Given the description of an element on the screen output the (x, y) to click on. 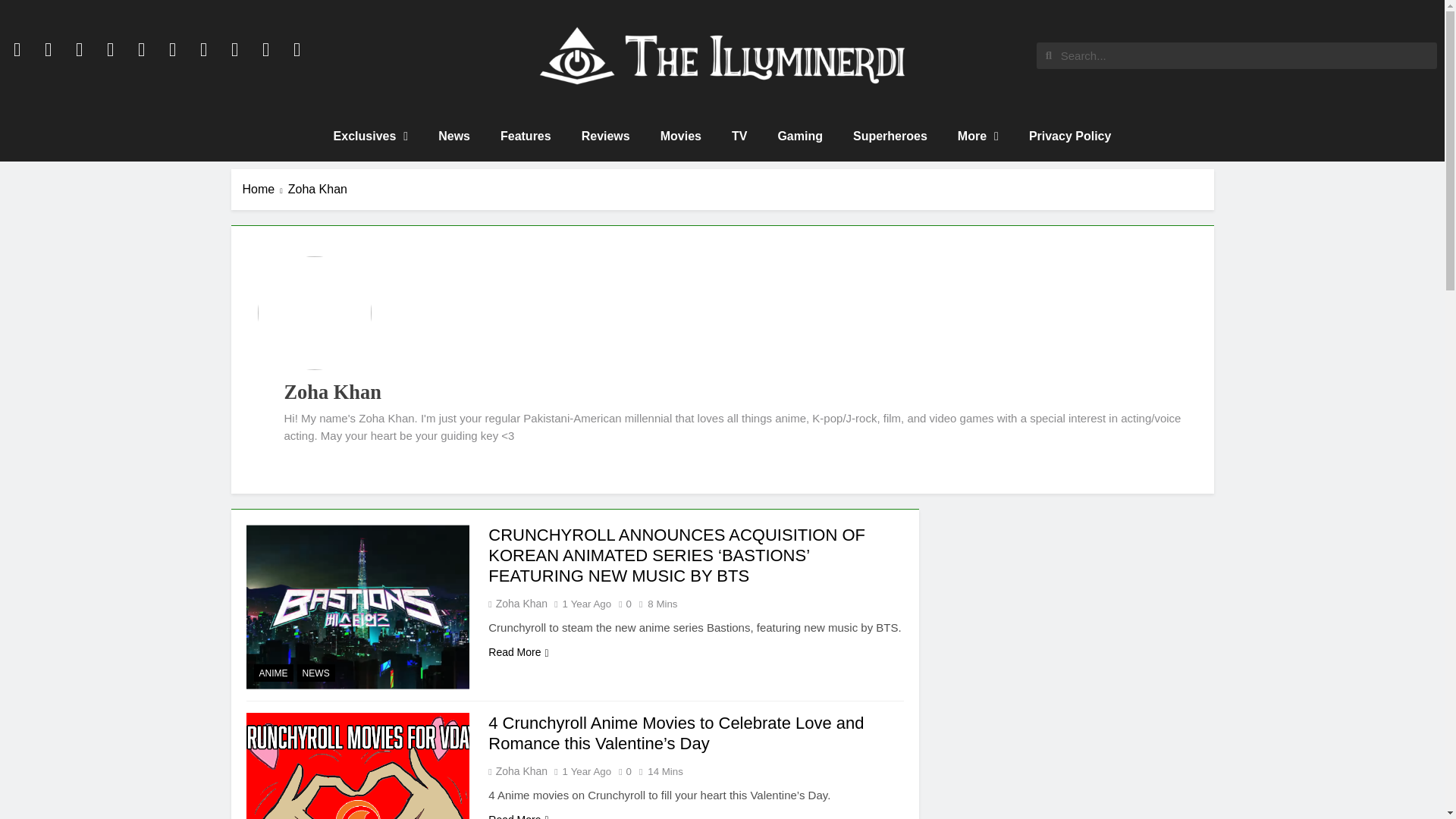
Gaming (799, 135)
Privacy Policy (1069, 135)
Features (525, 135)
Movies (680, 135)
News (453, 135)
More (977, 135)
Superheroes (890, 135)
Reviews (605, 135)
TV (738, 135)
Exclusives (370, 135)
